Given the description of an element on the screen output the (x, y) to click on. 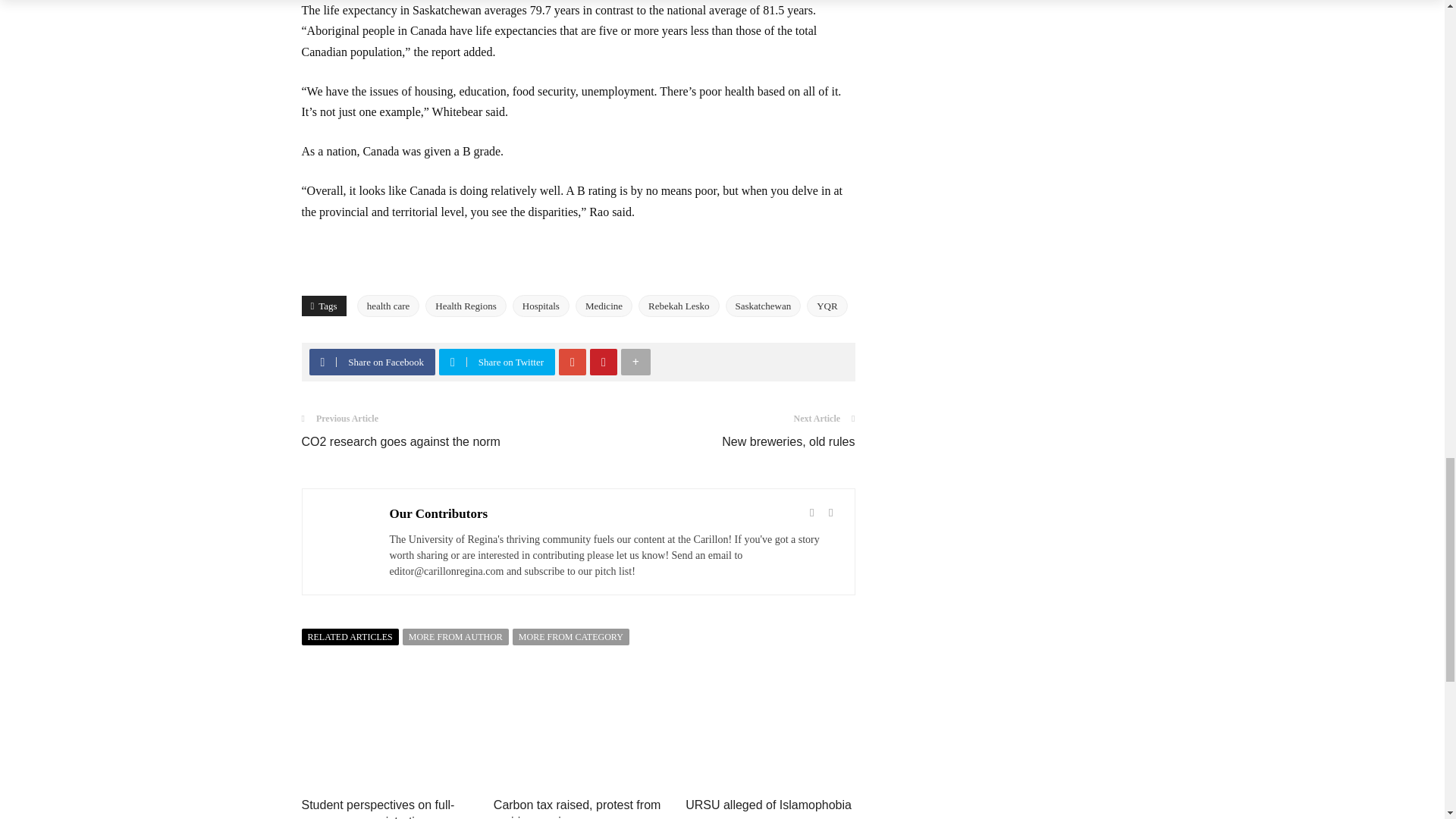
View all posts tagged YQR (826, 305)
View all posts tagged Health Regions (465, 305)
View all posts tagged Saskatchewan (763, 305)
View all posts tagged Rebekah Lesko (679, 305)
View all posts tagged Medicine (603, 305)
View all posts tagged health care (388, 305)
View all posts tagged Hospitals (540, 305)
